Given the description of an element on the screen output the (x, y) to click on. 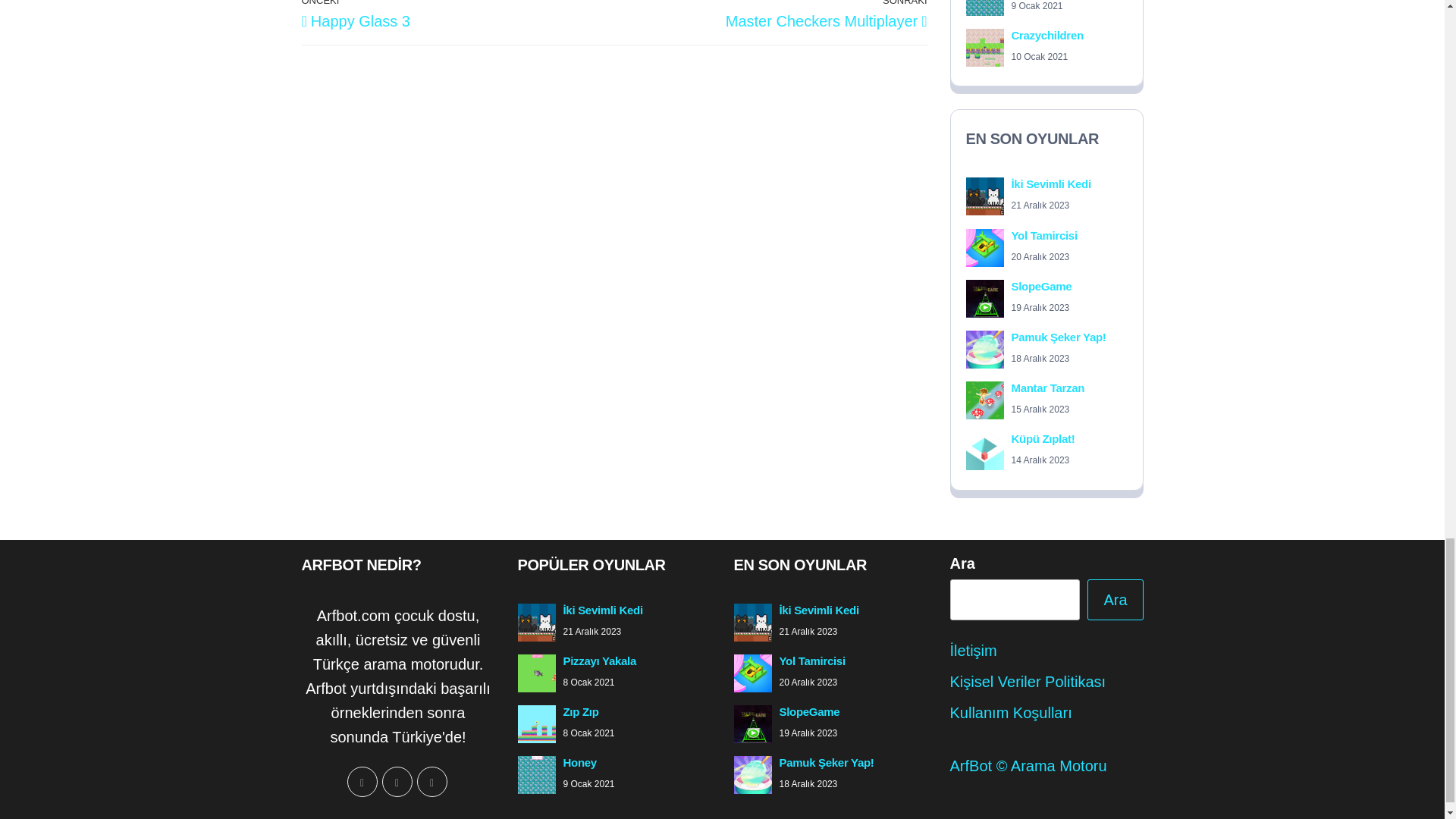
Youtube (431, 781)
Instagram (396, 781)
Facebook (362, 781)
Crazychildren (1047, 34)
Yol Tamircisi (1044, 235)
SlopeGame (1041, 286)
Mantar Tarzan (1047, 387)
